Given the description of an element on the screen output the (x, y) to click on. 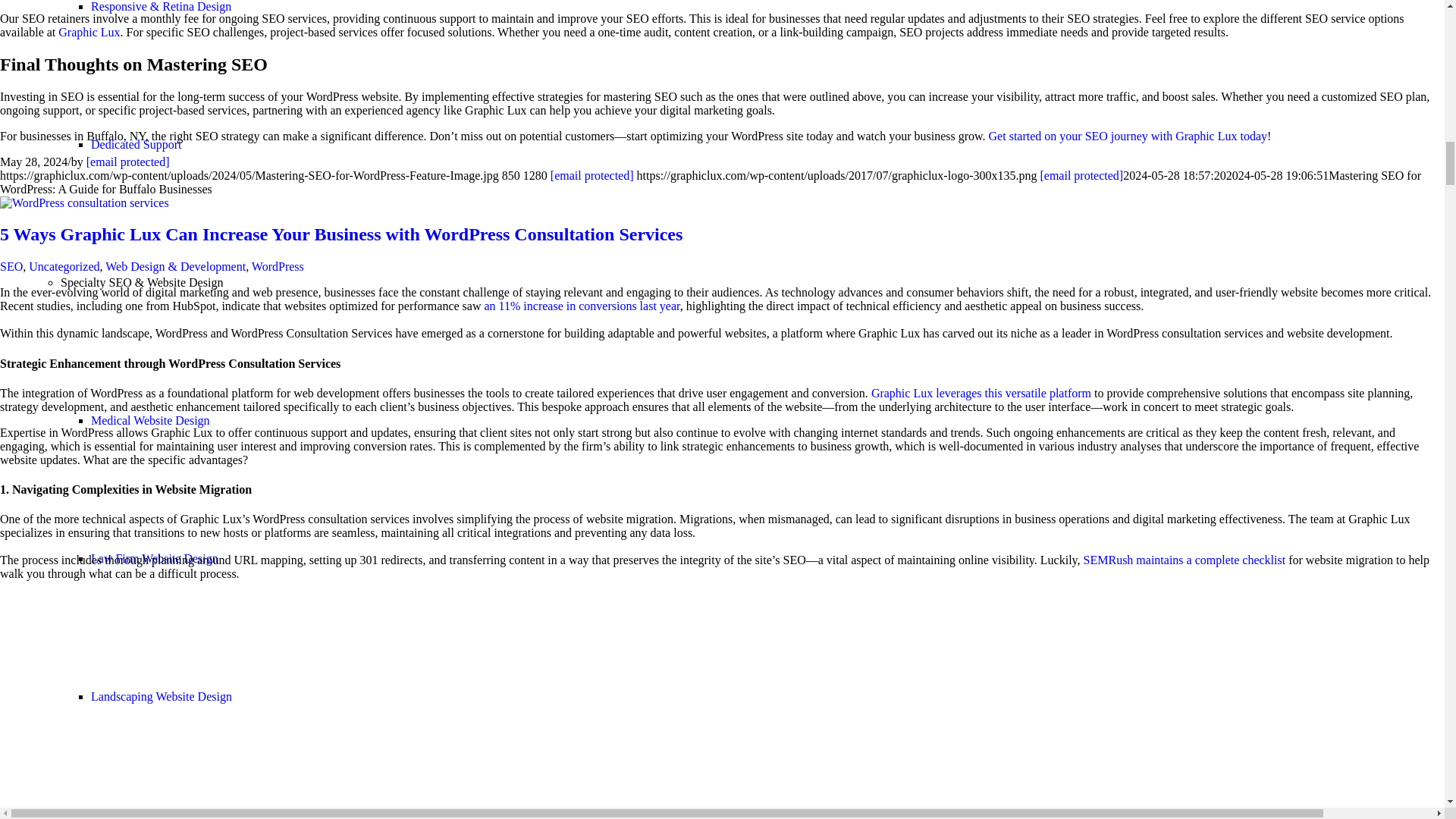
Dedicated Support (136, 144)
WPConsult (84, 202)
Law Firm Website Design (154, 558)
Landscaping Website Design (160, 696)
Medical Website Design (149, 420)
